Given the description of an element on the screen output the (x, y) to click on. 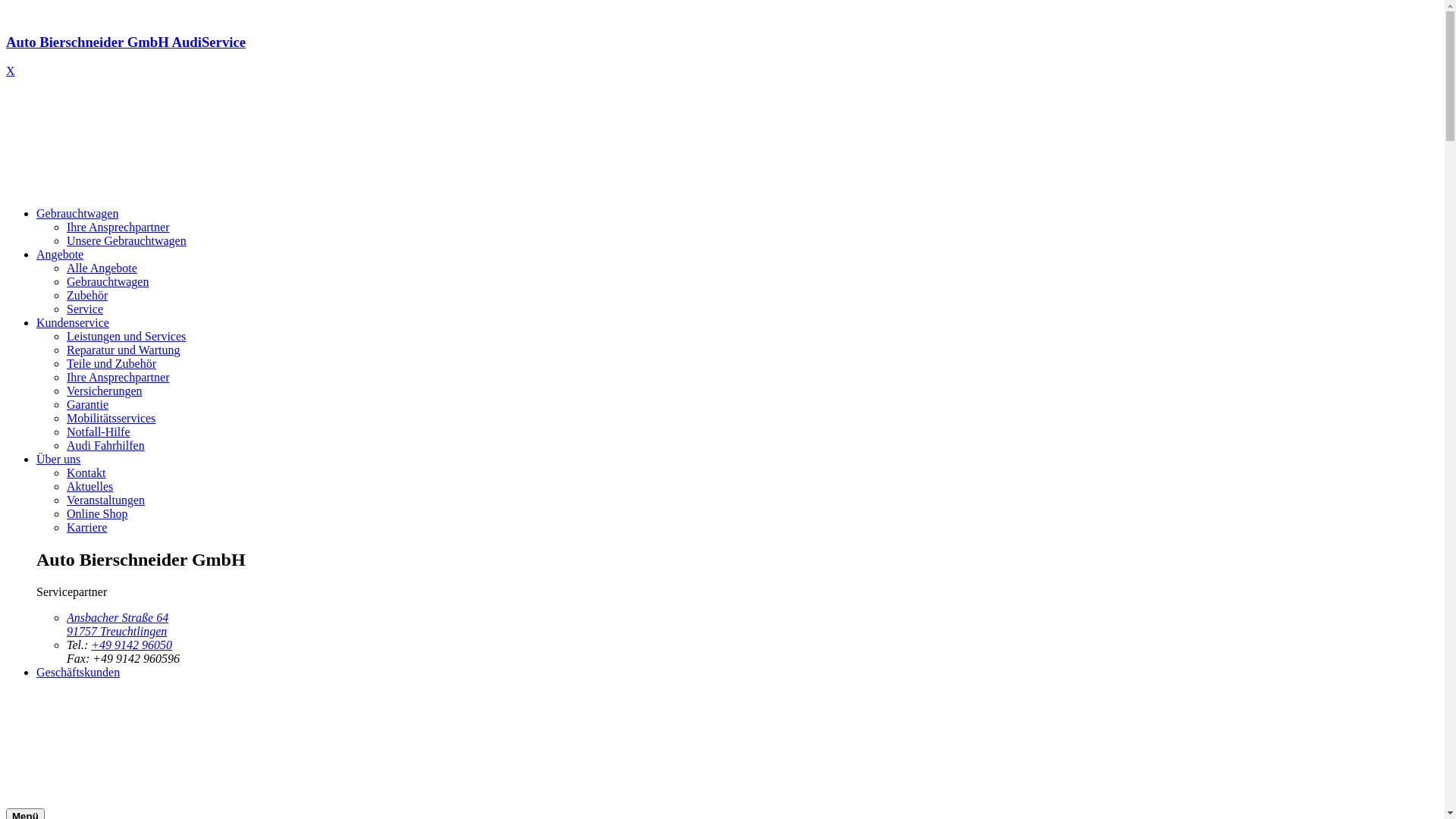
Ihre Ansprechpartner Element type: text (117, 226)
X Element type: text (10, 70)
Unsere Gebrauchtwagen Element type: text (126, 240)
Service Element type: text (84, 308)
Ihre Ansprechpartner Element type: text (117, 376)
Reparatur und Wartung Element type: text (122, 349)
Audi Fahrhilfen Element type: text (105, 445)
Kontakt Element type: text (86, 472)
Alle Angebote Element type: text (101, 267)
+49 9142 96050 Element type: text (131, 644)
Online Shop Element type: text (96, 513)
Garantie Element type: text (87, 404)
Gebrauchtwagen Element type: text (77, 213)
Veranstaltungen Element type: text (105, 499)
Versicherungen Element type: text (104, 390)
Angebote Element type: text (59, 253)
Notfall-Hilfe Element type: text (98, 431)
Karriere Element type: text (86, 526)
Leistungen und Services Element type: text (125, 335)
Aktuelles Element type: text (89, 486)
Kundenservice Element type: text (72, 322)
Gebrauchtwagen Element type: text (107, 281)
Auto Bierschneider GmbH AudiService Element type: text (722, 56)
